Given the description of an element on the screen output the (x, y) to click on. 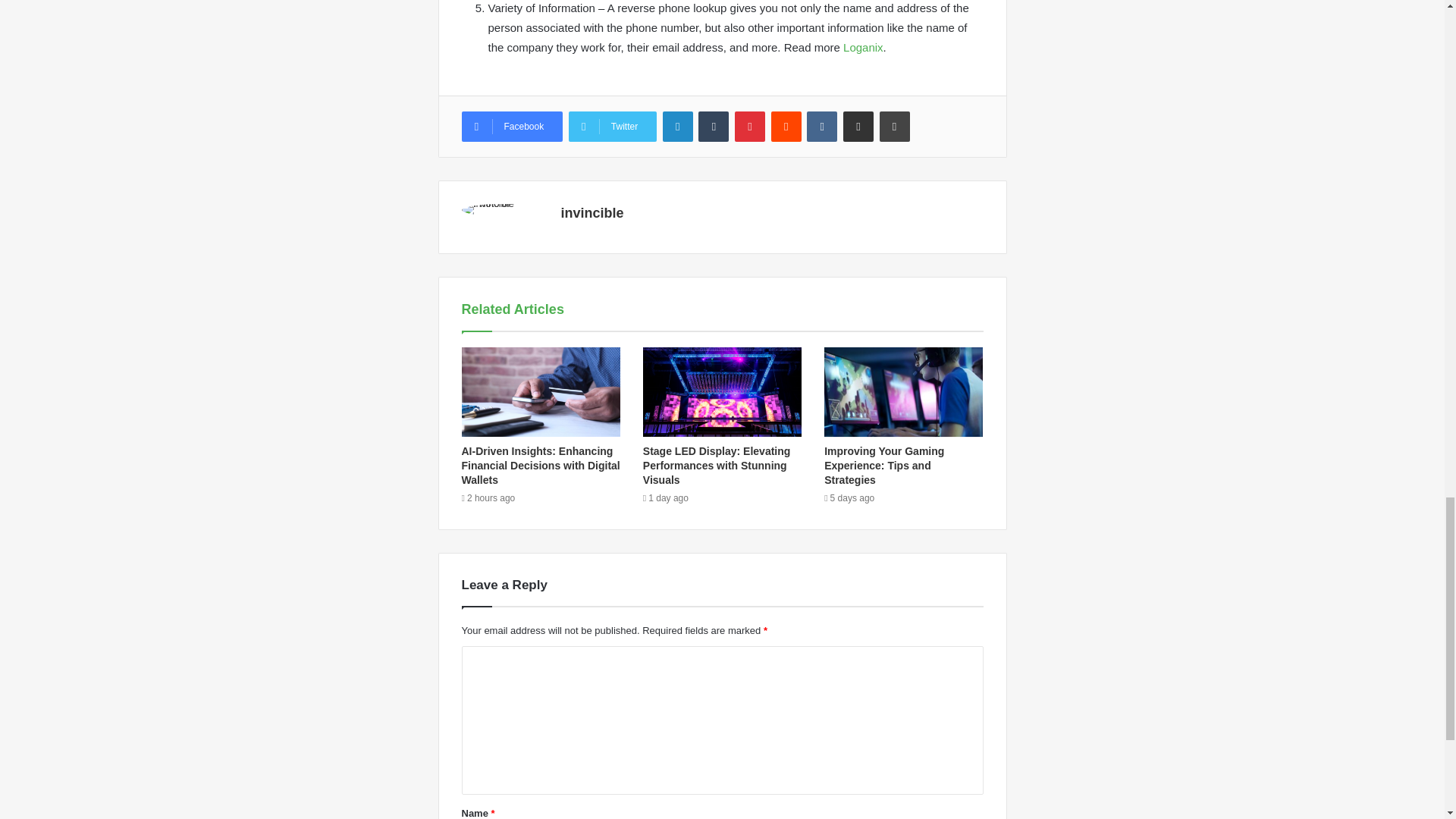
VKontakte (821, 126)
Print (894, 126)
LinkedIn (677, 126)
Twitter (612, 126)
Reddit (786, 126)
Twitter (612, 126)
Tumblr (713, 126)
Facebook (511, 126)
VKontakte (821, 126)
LinkedIn (677, 126)
Print (894, 126)
Loganix (863, 47)
Pinterest (750, 126)
Facebook (511, 126)
